Given the description of an element on the screen output the (x, y) to click on. 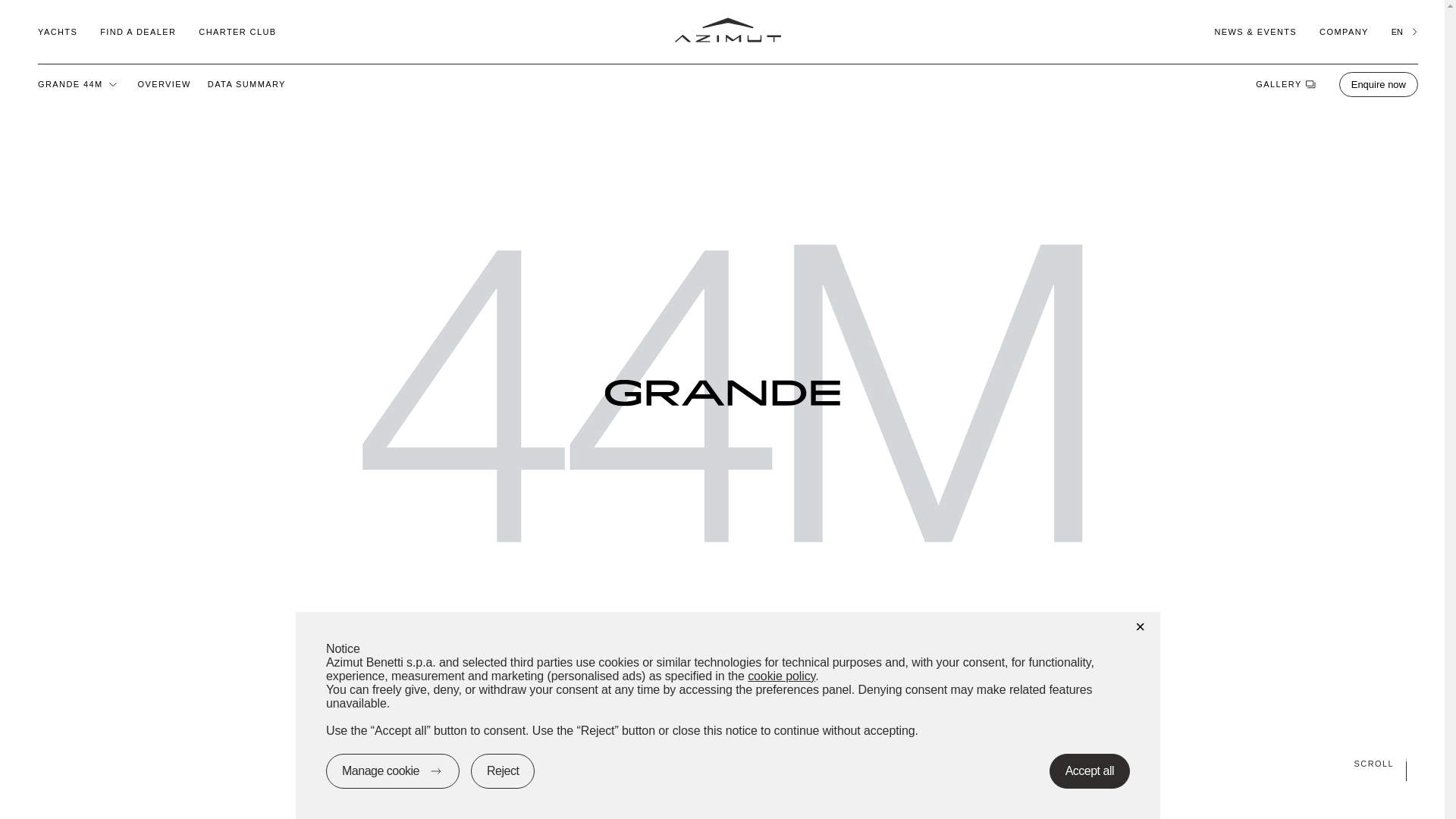
SCROLL (722, 763)
Enquire now (1378, 83)
FIND A DEALER (138, 31)
CHARTER CLUB (237, 31)
YACHTS (57, 31)
COMPANY (1343, 31)
EN (1404, 31)
DATA SUMMARY (246, 83)
OVERVIEW (164, 83)
